Given the description of an element on the screen output the (x, y) to click on. 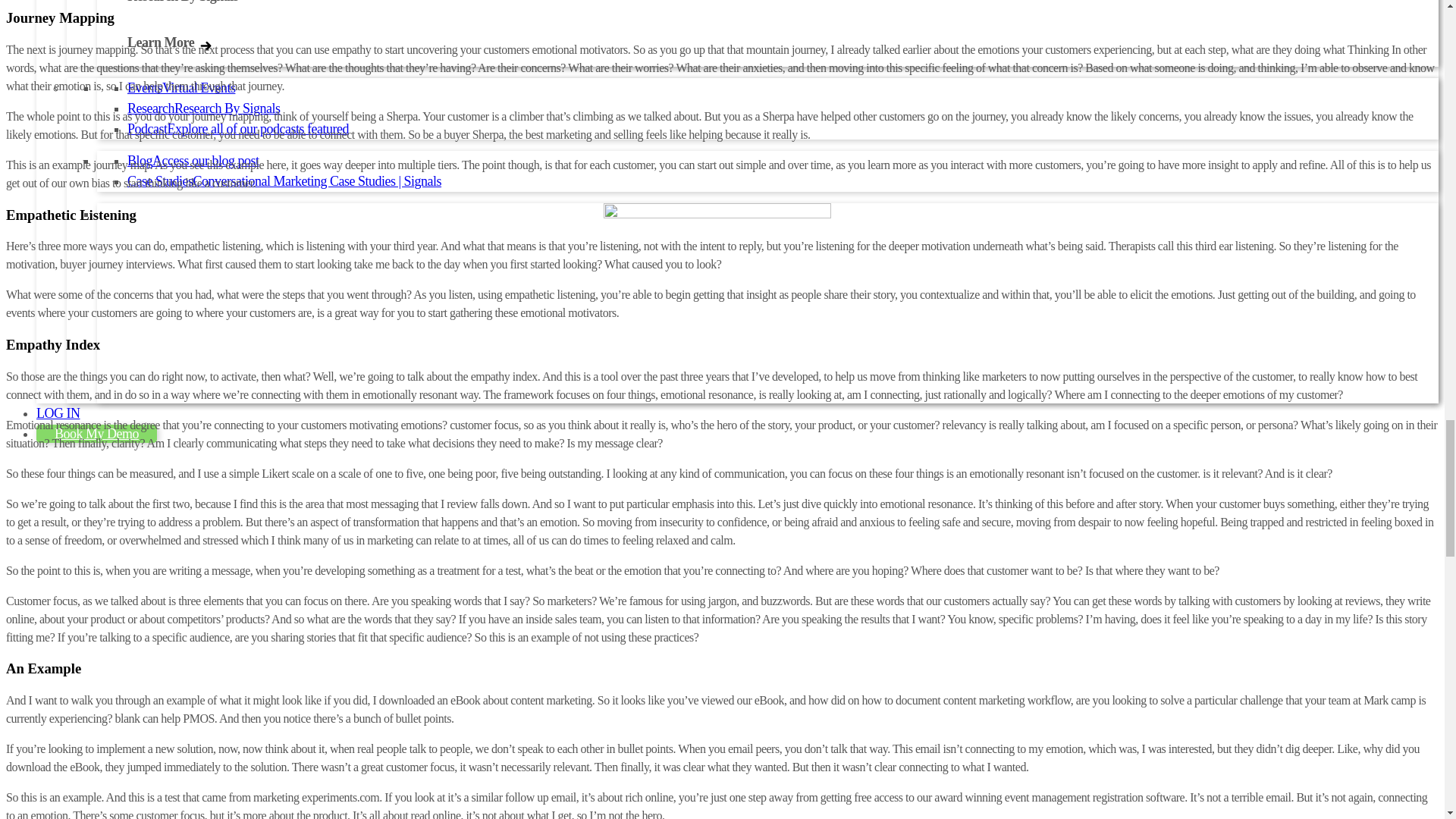
PodcastExplore all of our podcasts featured (238, 128)
BlogAccess our blog post (193, 160)
EventsVirtual Events (181, 87)
Book My Demo (96, 434)
ResearchResearch By Signals (203, 108)
LOG IN (58, 412)
